Given the description of an element on the screen output the (x, y) to click on. 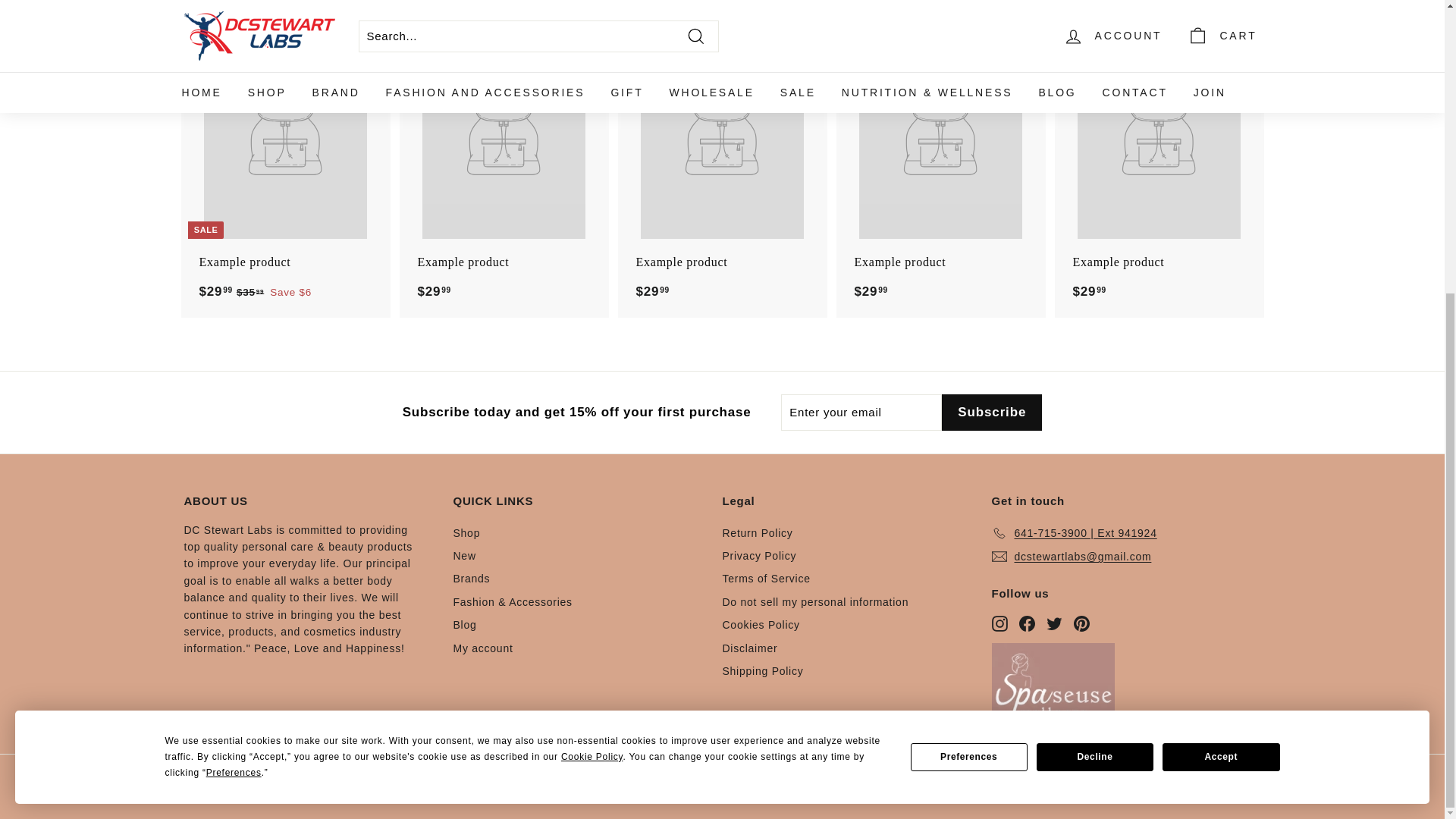
Accept (1220, 307)
DC Stewart Labs Cosmetics Store on Instagram (999, 622)
Decline (1094, 307)
DC Stewart Labs Cosmetics Store on Twitter (1054, 622)
DC Stewart Labs Cosmetics Store on Pinterest (1081, 622)
DC Stewart Labs Cosmetics Store on Facebook (1027, 622)
Preferences (969, 307)
